Given the description of an element on the screen output the (x, y) to click on. 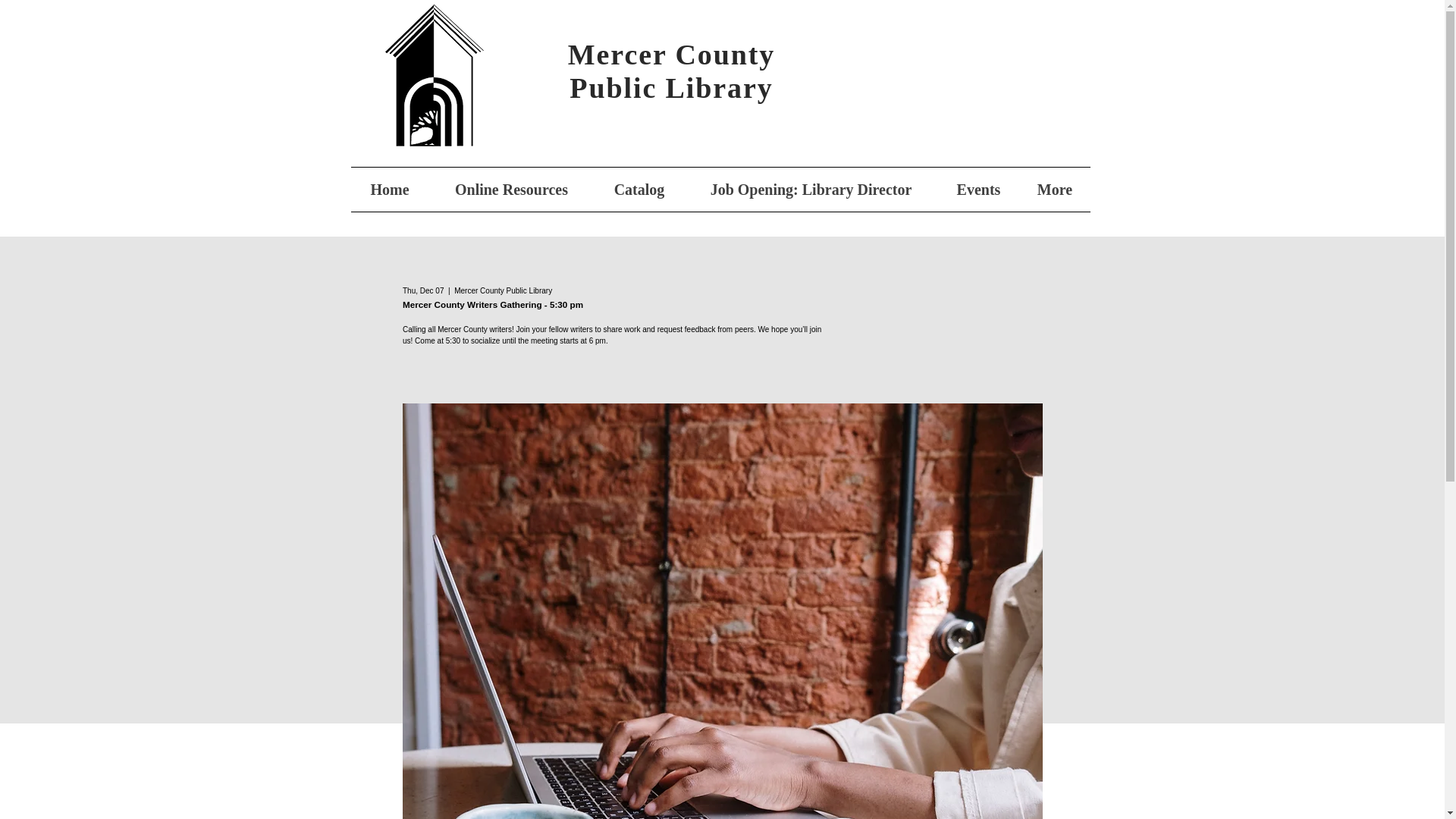
Online Resources (511, 189)
Events (978, 189)
Job Opening: Library Director (810, 189)
Catalog (639, 189)
200 px logo transparent 300 dpi.png (434, 75)
Home (389, 189)
